Given the description of an element on the screen output the (x, y) to click on. 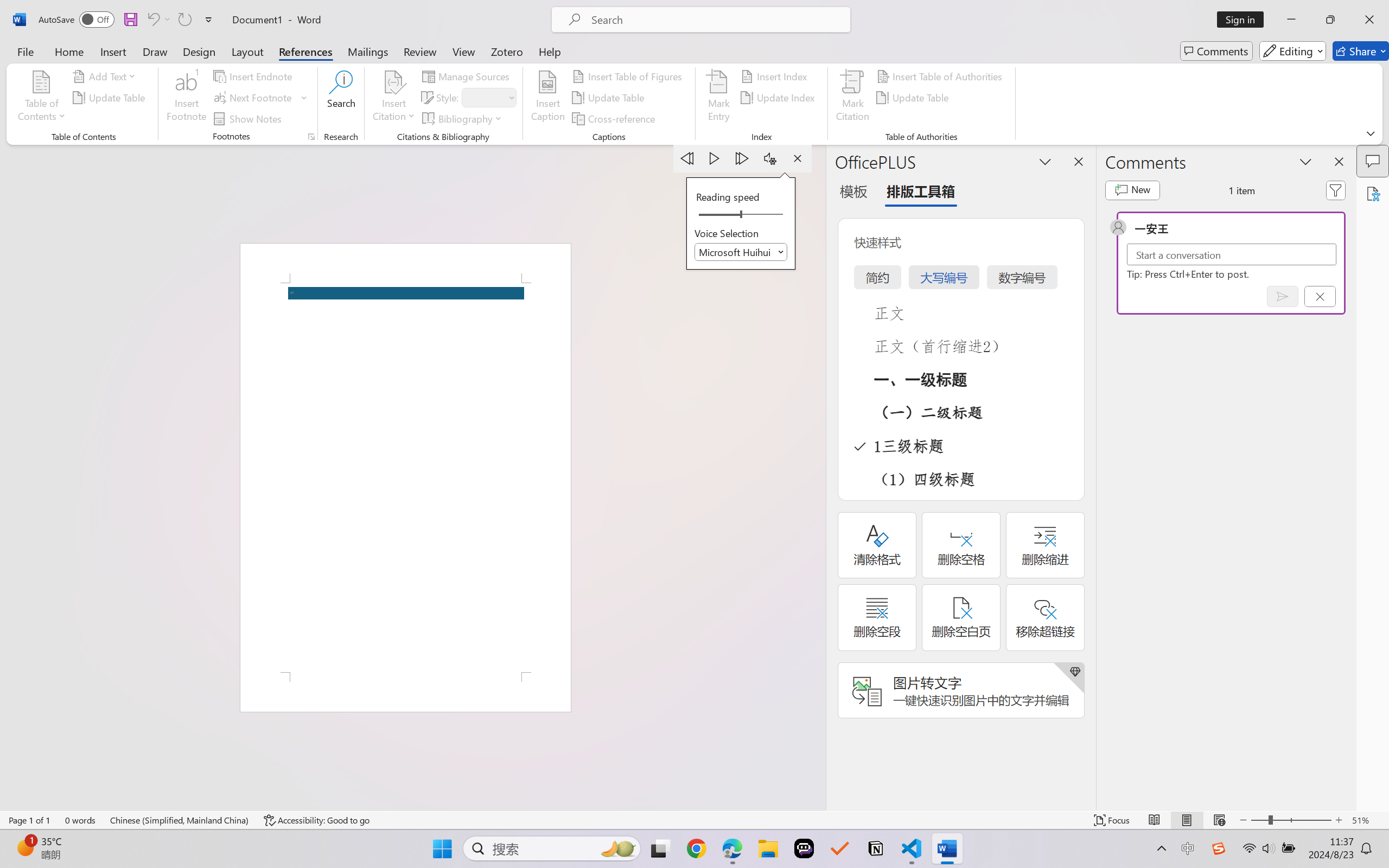
Insert Caption... (547, 97)
Stop (797, 158)
Start a conversation (1231, 254)
Insert Endnote (253, 75)
Search (341, 97)
Play (715, 158)
Next Paragraph (743, 158)
